Given the description of an element on the screen output the (x, y) to click on. 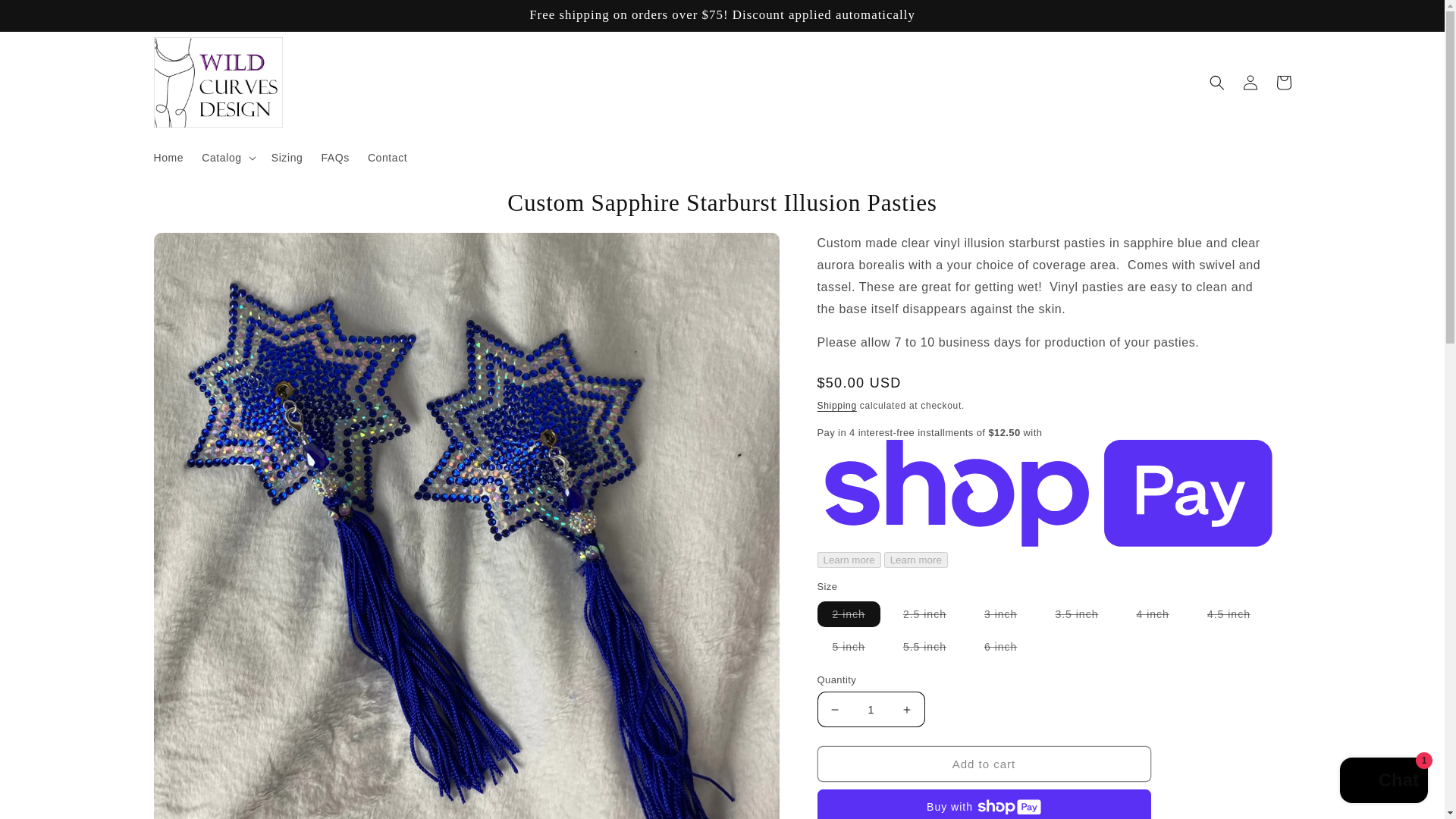
Log in (1249, 82)
1 (870, 709)
Home (168, 157)
Contact (387, 157)
Shopify online store chat (1383, 781)
FAQs (334, 157)
Skip to content (45, 17)
